Given the description of an element on the screen output the (x, y) to click on. 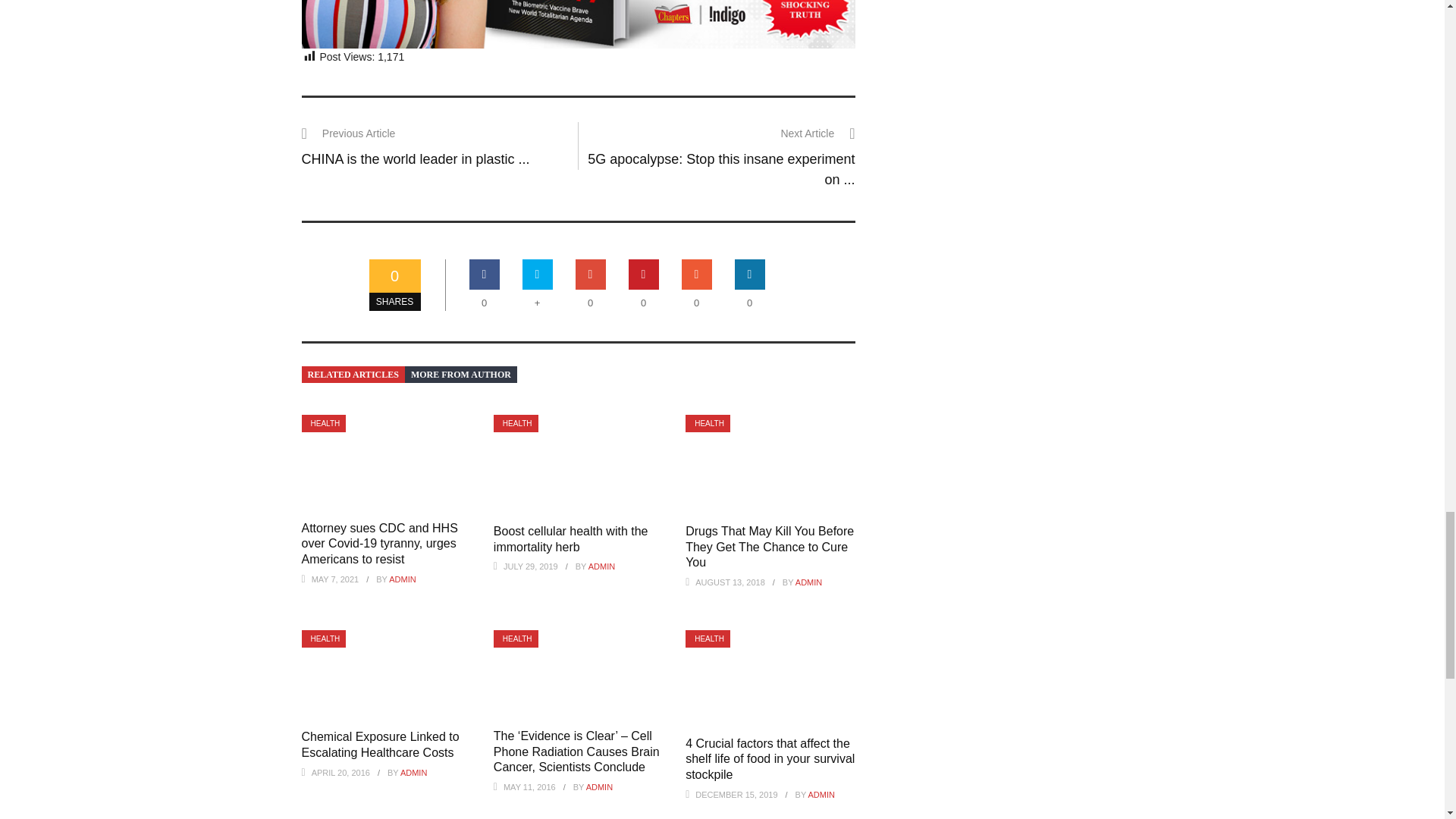
Linkedin (750, 274)
Google Plus (590, 274)
Pinterest (644, 274)
Stumbleupon (696, 274)
Tweet (537, 274)
Facebook (483, 274)
